Given the description of an element on the screen output the (x, y) to click on. 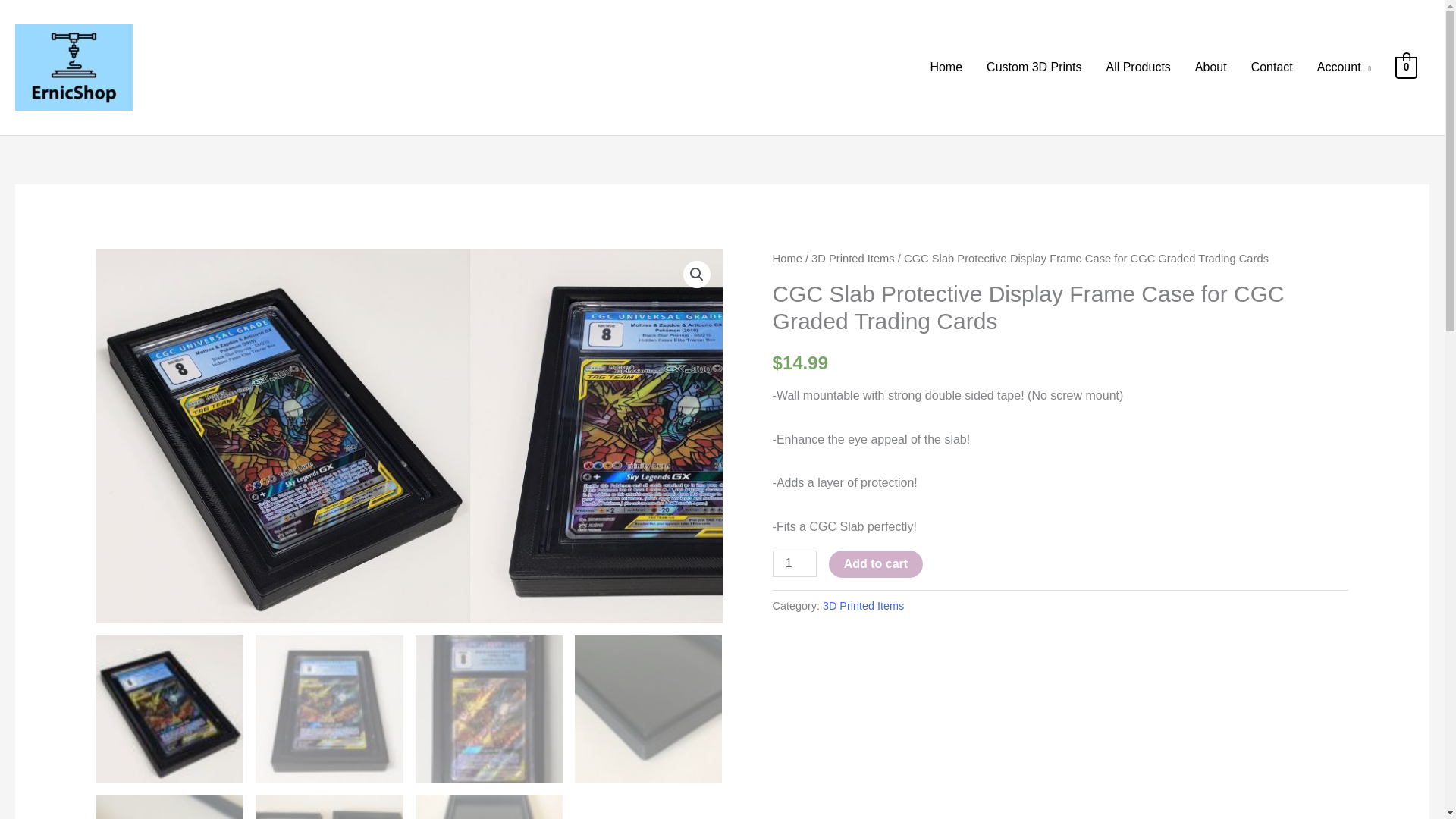
Account (1343, 67)
Home (787, 258)
0 (1405, 66)
Qty (794, 563)
3D Printed Items (852, 258)
Home (945, 67)
